Given the description of an element on the screen output the (x, y) to click on. 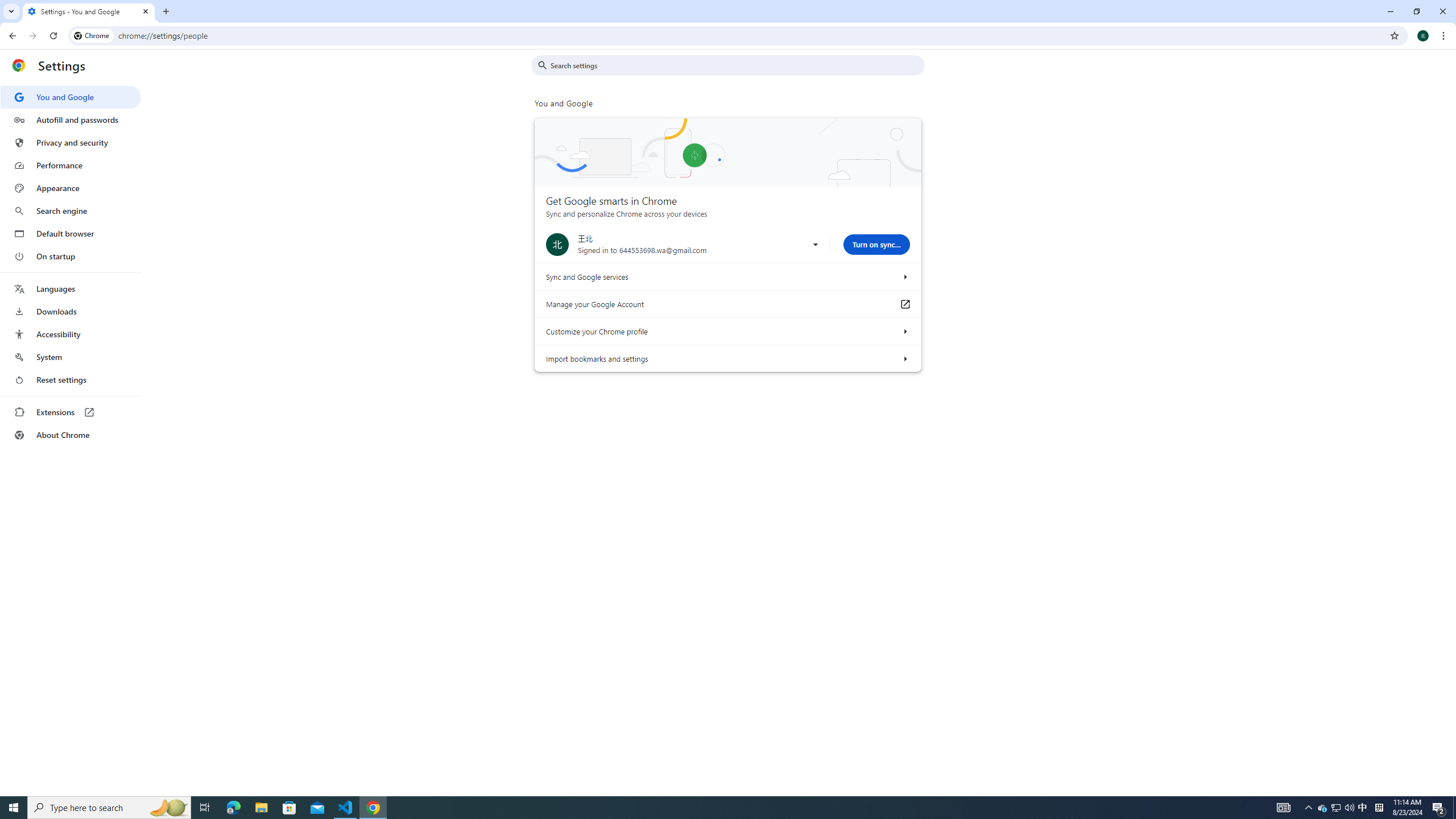
Sync and Google services (904, 275)
On startup (70, 255)
Use another account (815, 244)
Autofill and passwords (70, 119)
Accessibility (70, 333)
Appearance (70, 187)
About Chrome (70, 434)
Search engine (70, 210)
Default browser (70, 233)
Privacy and security (70, 142)
Import bookmarks and settings (904, 357)
